Given the description of an element on the screen output the (x, y) to click on. 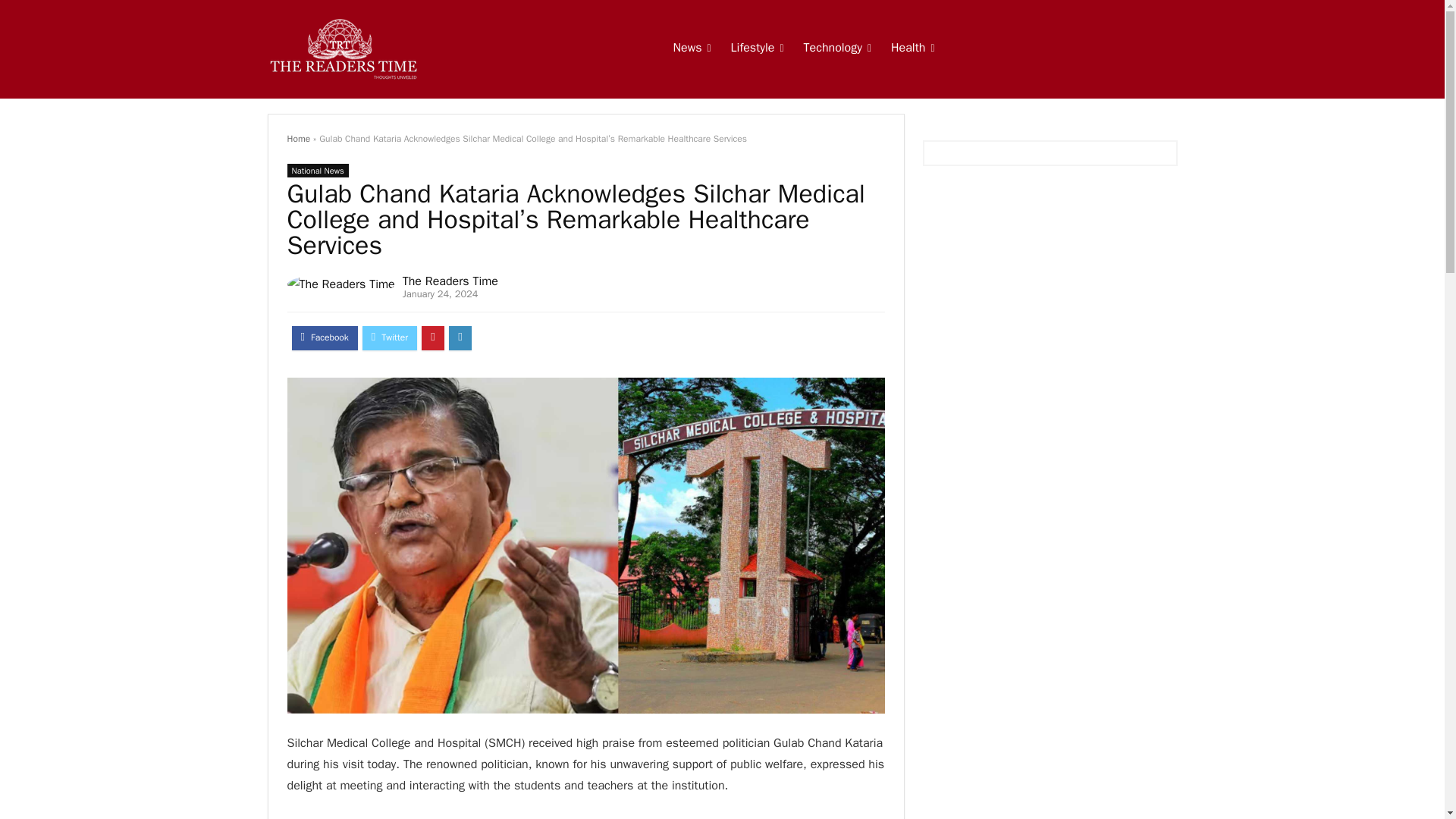
National News (316, 170)
Health (911, 49)
View all posts in National News (316, 170)
Home (298, 138)
The Readers Time (450, 281)
Lifestyle (756, 49)
Technology (836, 49)
News (691, 49)
